Given the description of an element on the screen output the (x, y) to click on. 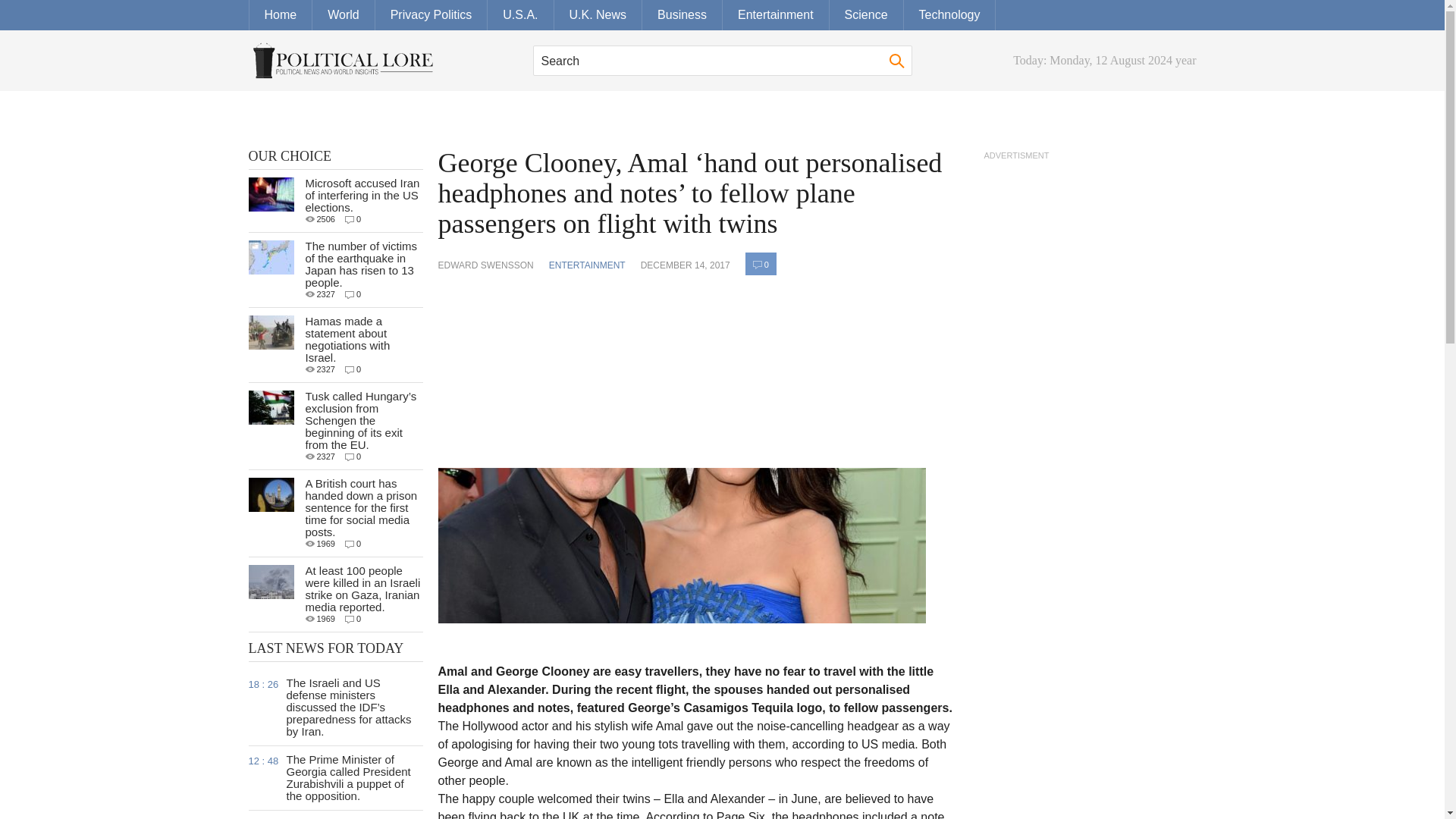
Search (721, 60)
Hamas made a statement about negotiations with Israel. (347, 338)
Search (896, 60)
Technology (949, 15)
Science (866, 15)
Microsoft accused Iran of interfering in the US elections. (361, 194)
Privacy Politics (431, 15)
Home (280, 15)
